Given the description of an element on the screen output the (x, y) to click on. 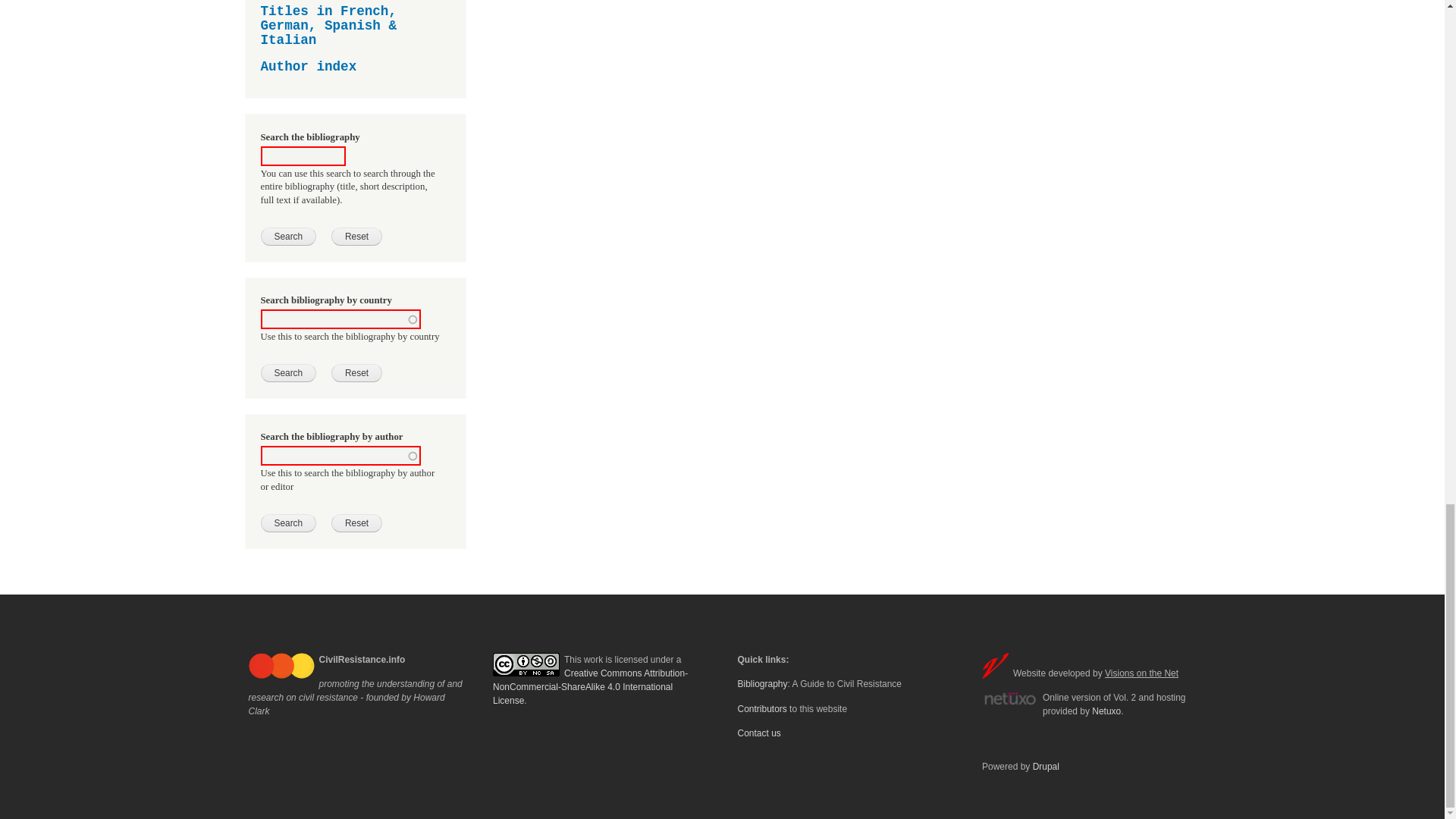
Reset (356, 372)
Search (288, 236)
Enter the terms you wish to search for. (303, 156)
Search (288, 372)
Reset (356, 236)
Reset (356, 523)
Search (288, 523)
